Given the description of an element on the screen output the (x, y) to click on. 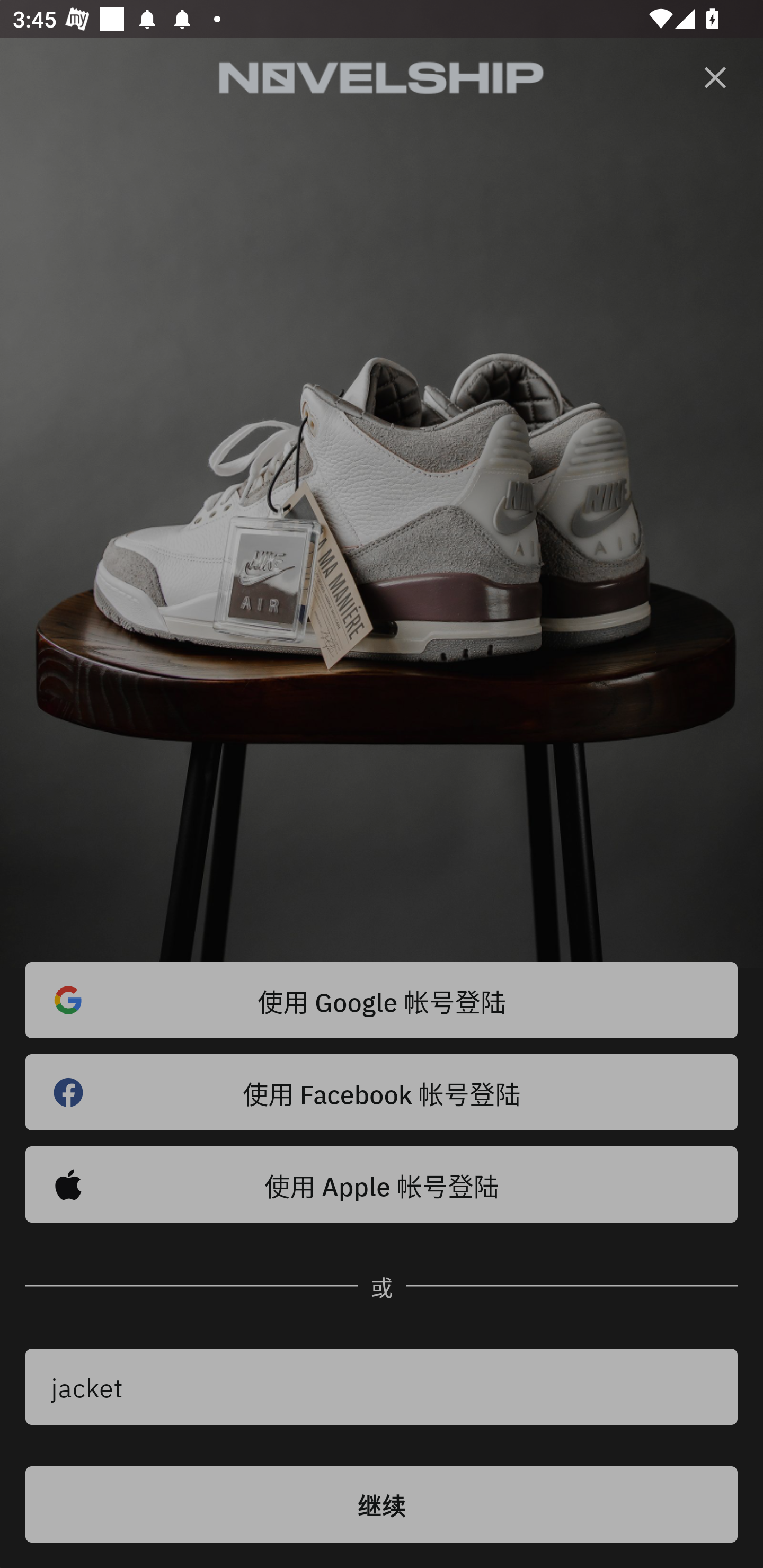
使用 Google 帐号登陆 (381, 1000)
使用 Facebook 帐号登陆 󰈌 (381, 1091)
 使用 Apple 帐号登陆 (381, 1184)
jacket (381, 1386)
继续 (381, 1504)
